Given the description of an element on the screen output the (x, y) to click on. 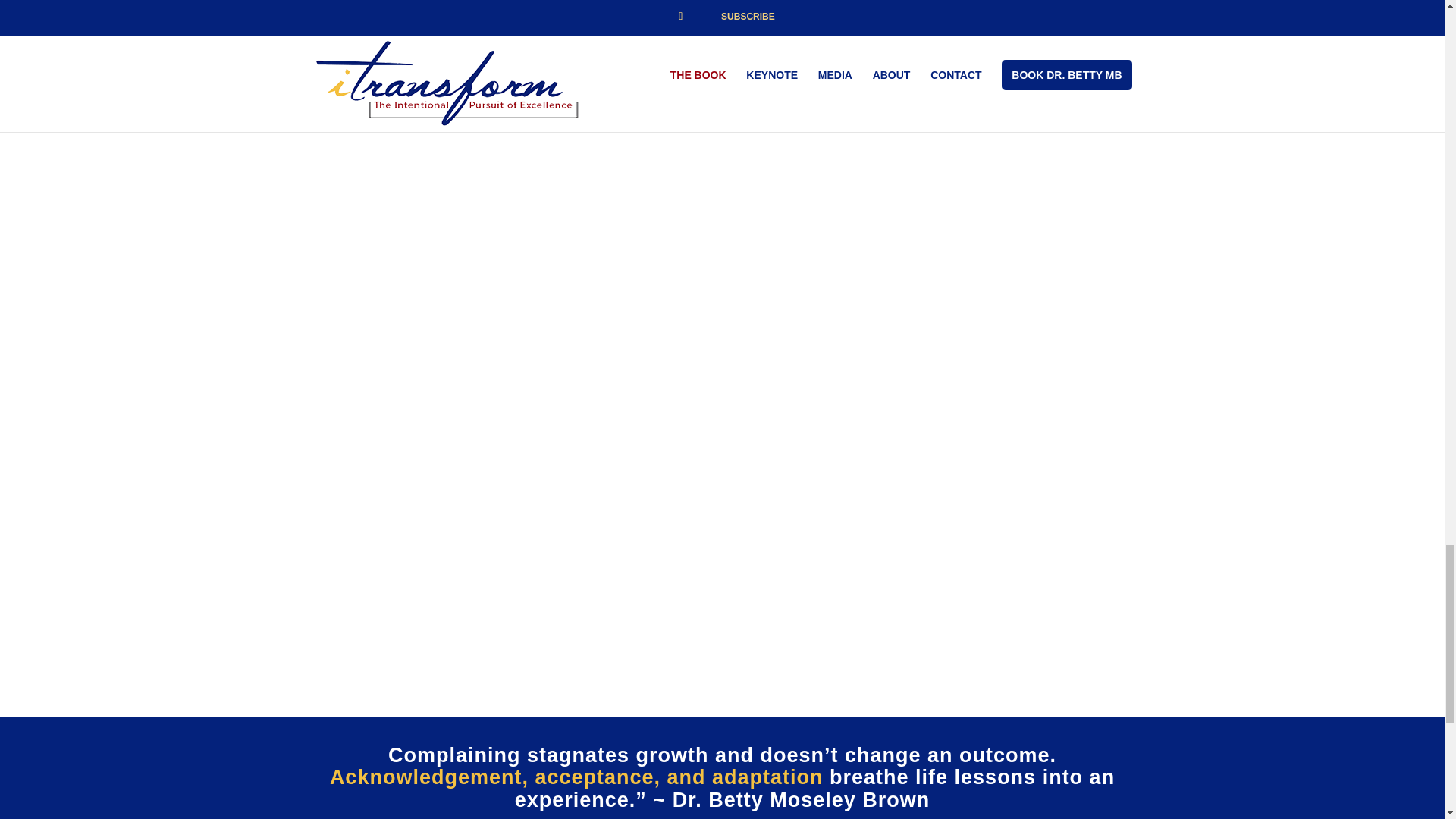
Dr. Betty Moseley Brown with Marines at Buffalo Thunder (521, 36)
Dr. Betty Moseley Brown with Sandra Yancey (923, 227)
Dr. Betty Moseley Brown, Speaker at the Young Marines (521, 227)
